Given the description of an element on the screen output the (x, y) to click on. 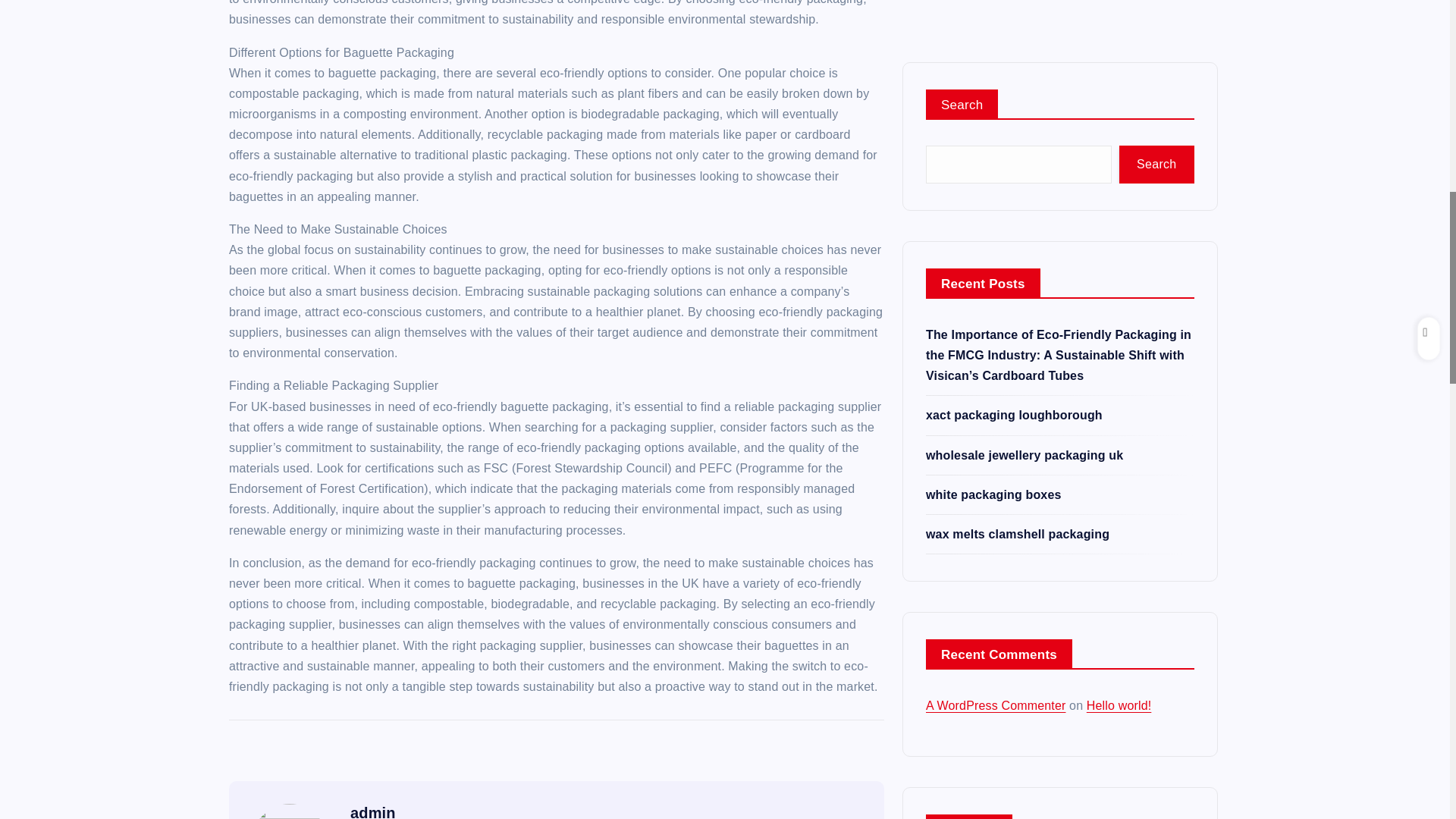
admin (373, 811)
wax melts clamshell packaging (1017, 148)
wholesale jewellery packaging uk (1024, 69)
xact packaging loughborough (1014, 29)
white packaging boxes (993, 109)
